Given the description of an element on the screen output the (x, y) to click on. 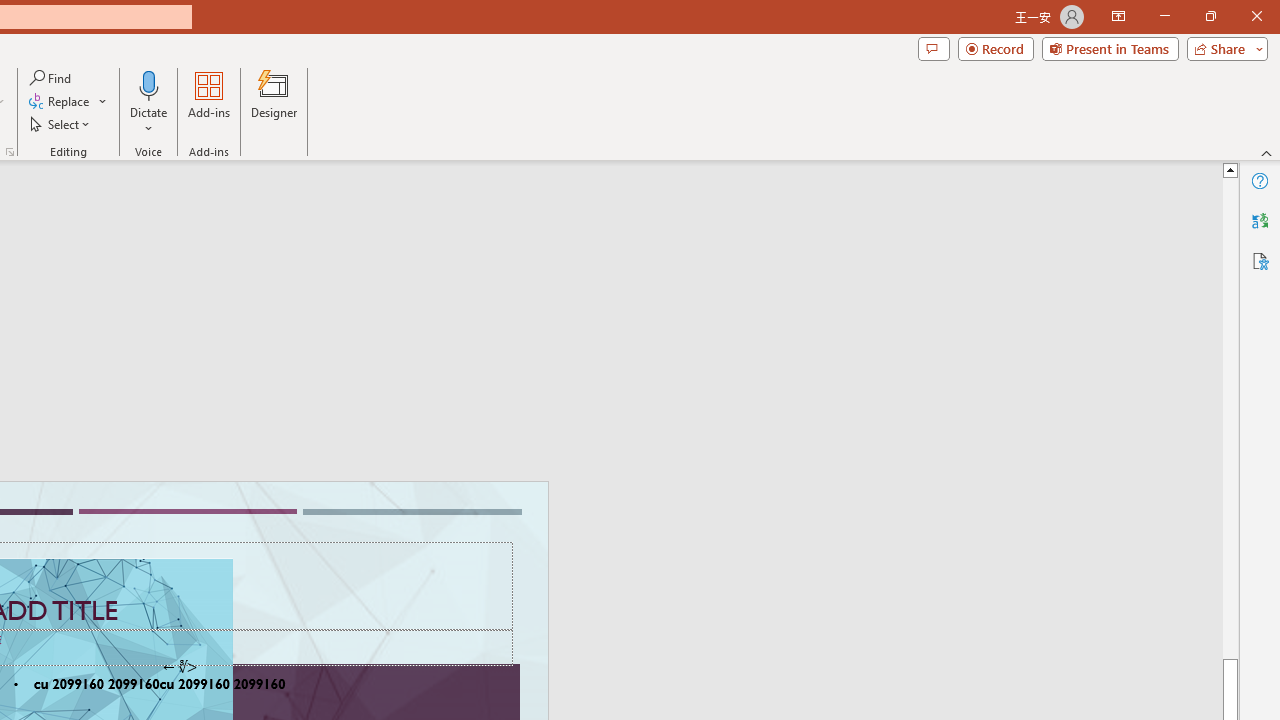
Comments (933, 48)
Line up (1230, 169)
Dictate (149, 102)
Replace... (60, 101)
Select (61, 124)
TextBox 7 (179, 667)
Help (1260, 180)
Accessibility (1260, 260)
TextBox 61 (186, 686)
Replace... (68, 101)
Collapse the Ribbon (1267, 152)
Ribbon Display Options (1118, 16)
Translator (1260, 220)
Close (1256, 16)
